Given the description of an element on the screen output the (x, y) to click on. 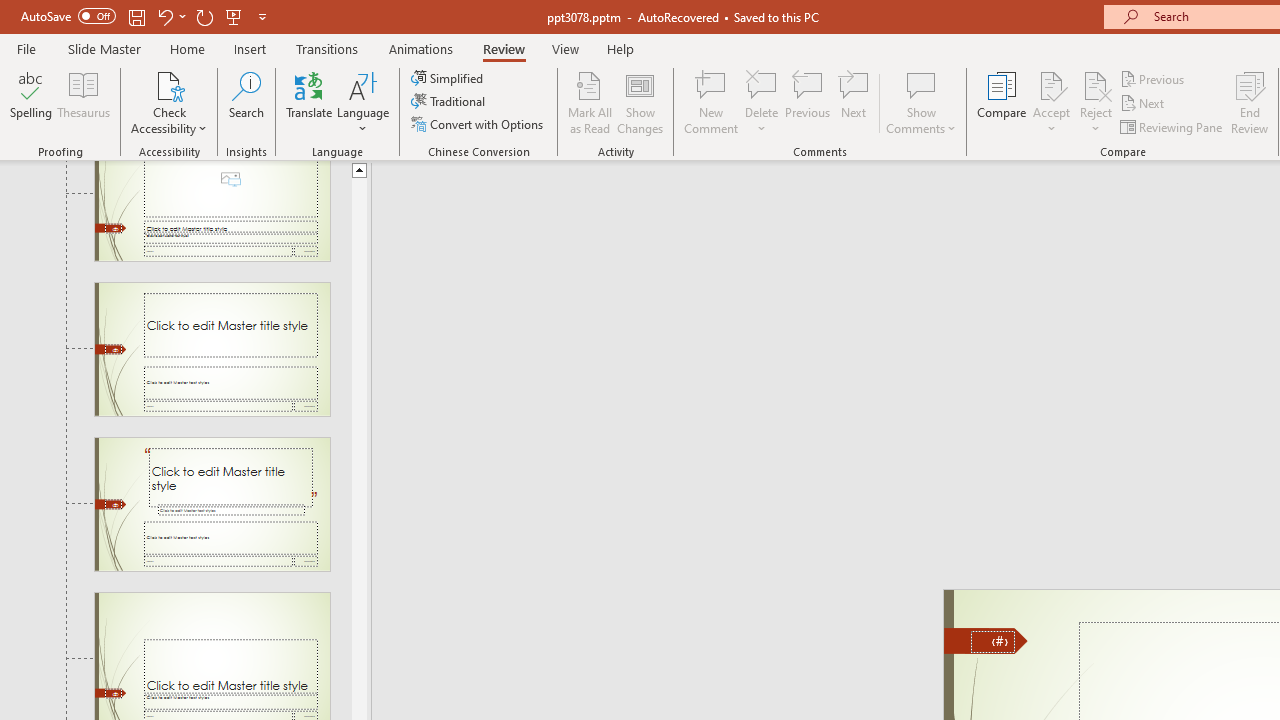
Compare (1002, 102)
Reject Change (1096, 84)
Thesaurus... (83, 102)
Language (363, 102)
Translate (309, 102)
Reject (1096, 102)
Slide Number (993, 641)
Slide Master (104, 48)
Convert with Options... (479, 124)
